Given the description of an element on the screen output the (x, y) to click on. 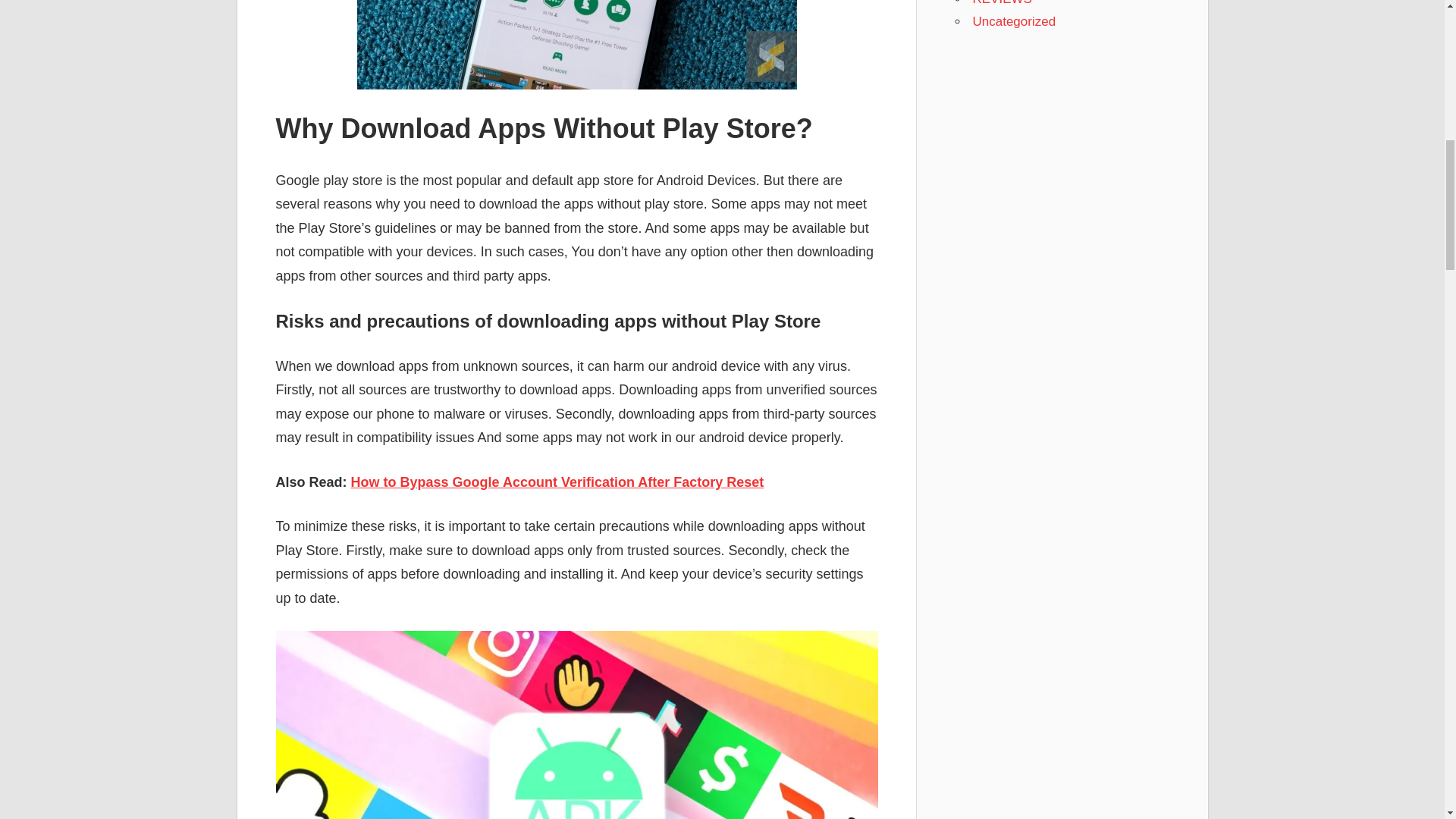
Uncategorized (1013, 20)
REVIEWS (1001, 2)
